Given the description of an element on the screen output the (x, y) to click on. 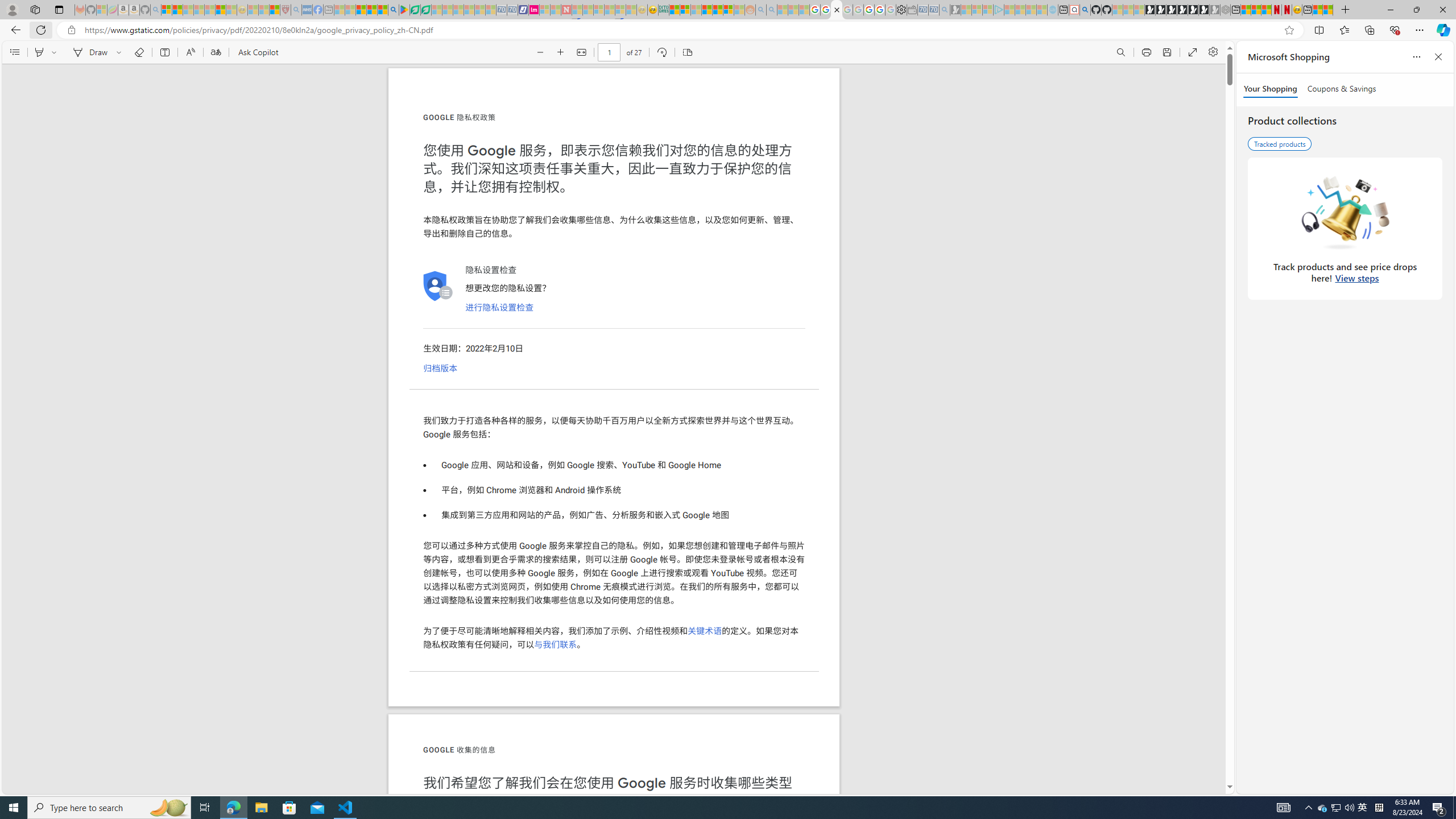
Expert Portfolios (707, 9)
Play Cave FRVR in your browser | Games from Microsoft Start (1171, 9)
Trusted Community Engagement and Contributions | Guidelines (577, 9)
New Report Confirms 2023 Was Record Hot | Watch - Sleeping (209, 9)
Utah sues federal government - Search - Sleeping (771, 9)
Ask Copilot (257, 52)
Robert H. Shmerling, MD - Harvard Health - Sleeping (285, 9)
